Given the description of an element on the screen output the (x, y) to click on. 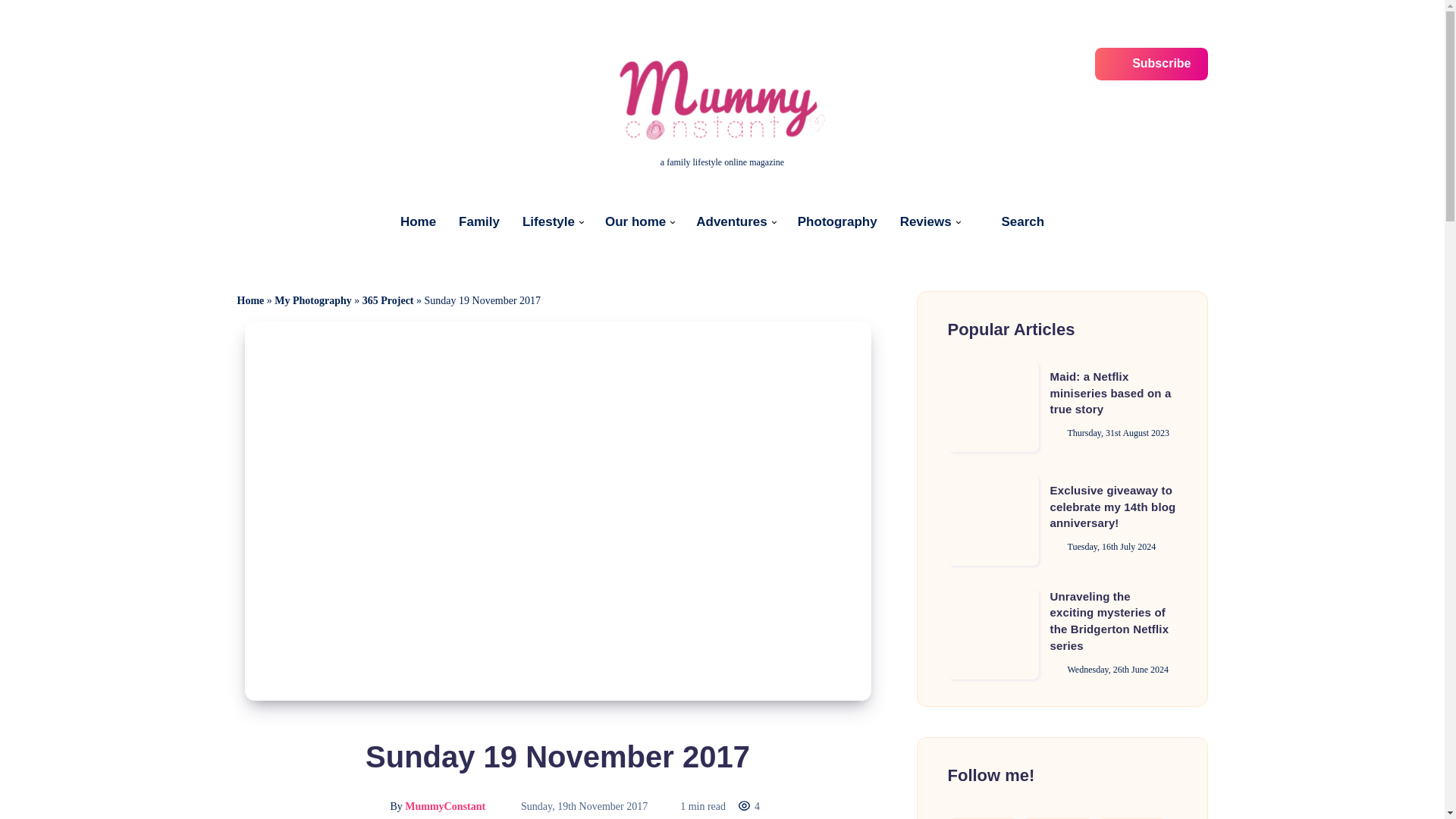
4 Views (749, 806)
Adventures (731, 221)
Lifestyle (548, 221)
Home (417, 221)
Our home (635, 221)
Subscribe (1151, 63)
Family (478, 221)
Reviews (925, 221)
Search (1012, 221)
Photography (837, 221)
